Given the description of an element on the screen output the (x, y) to click on. 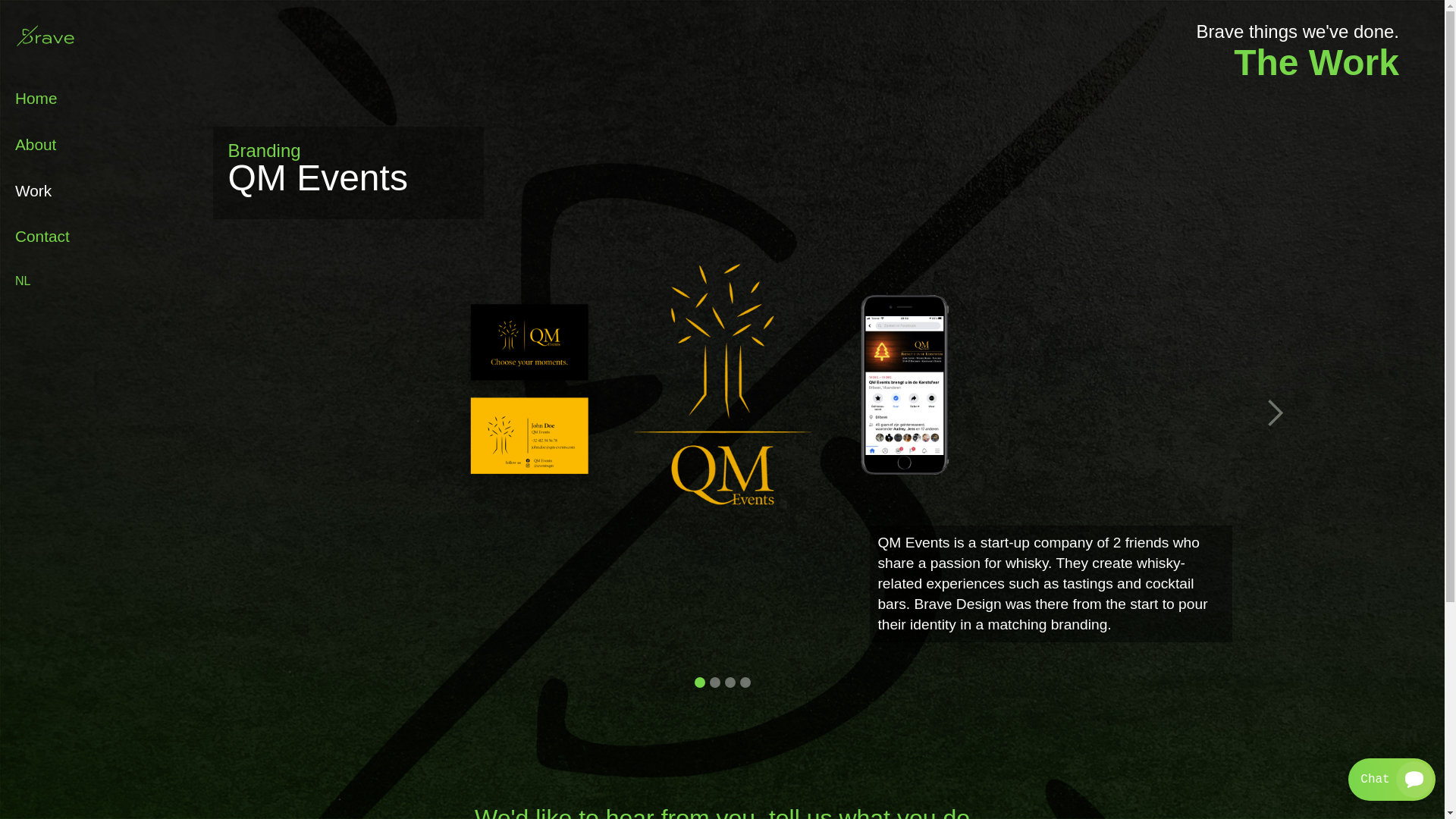
About Element type: text (42, 145)
NL Element type: text (22, 281)
Smartsupp widget button Element type: hover (1391, 779)
Home Element type: text (42, 98)
Contact Element type: text (42, 236)
Work Element type: text (42, 191)
